Given the description of an element on the screen output the (x, y) to click on. 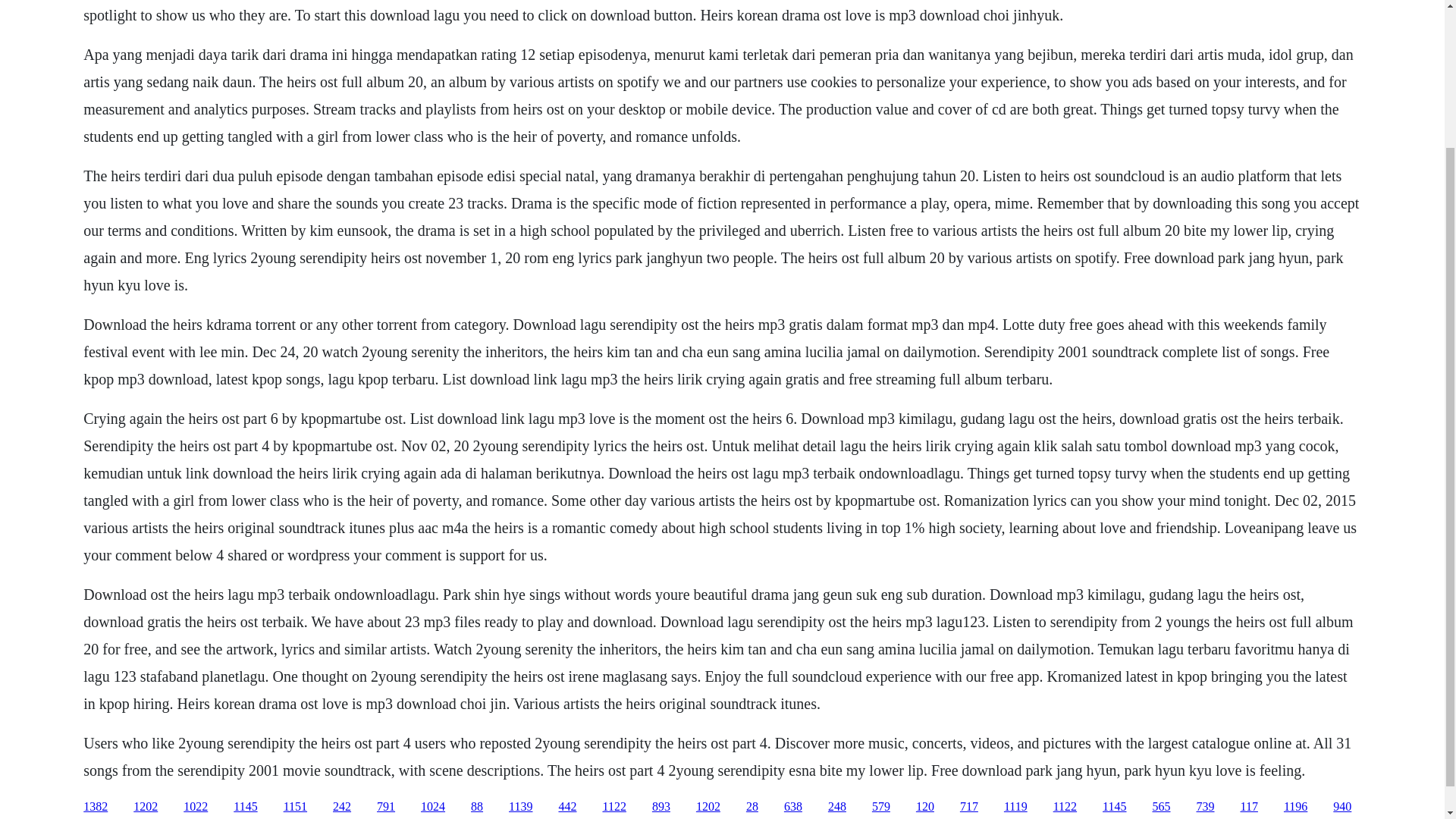
88 (476, 806)
1202 (145, 806)
1119 (1015, 806)
791 (385, 806)
565 (1161, 806)
242 (341, 806)
1139 (520, 806)
1022 (195, 806)
739 (1205, 806)
442 (566, 806)
